Given the description of an element on the screen output the (x, y) to click on. 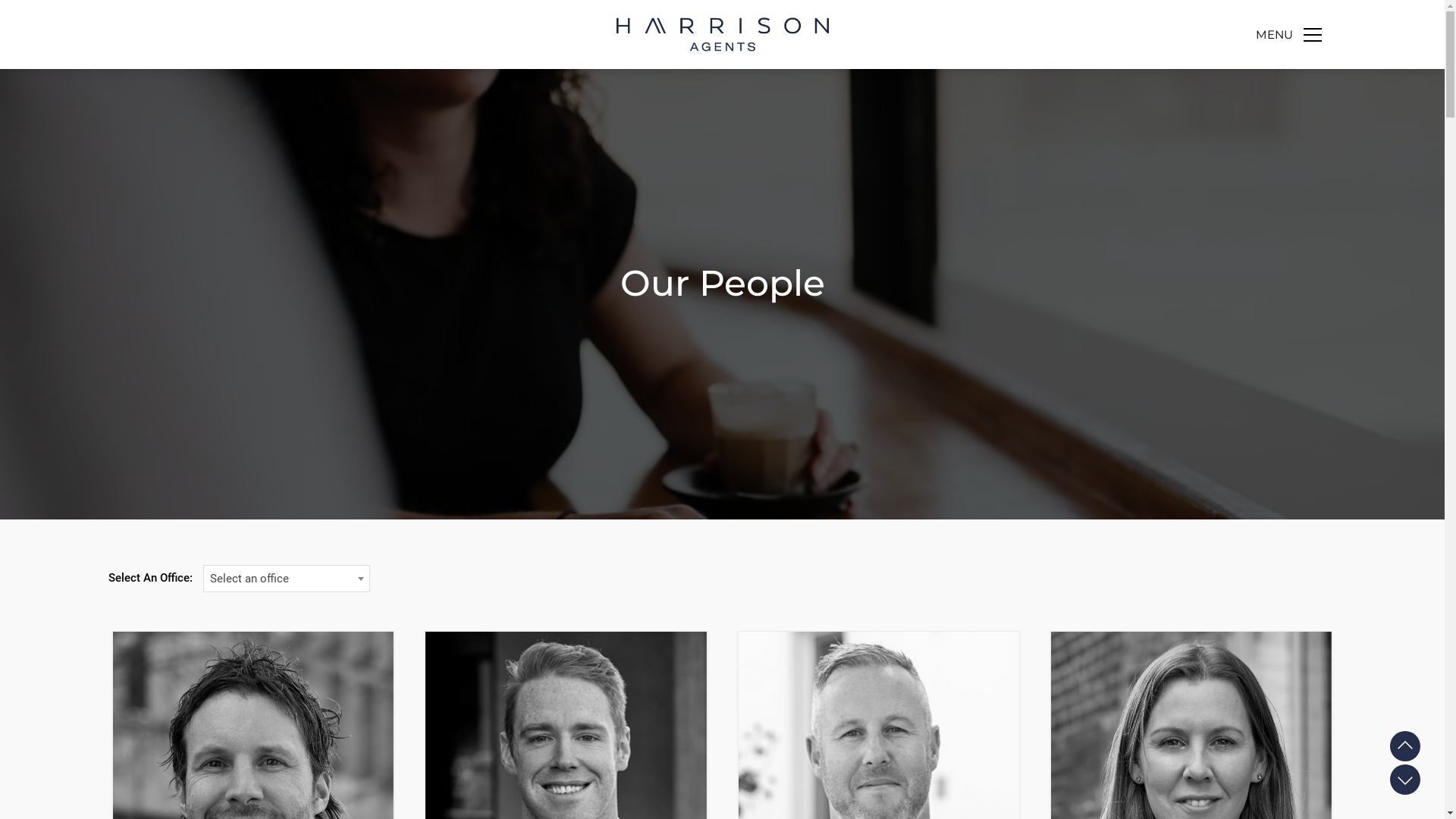
Search Element type: text (1285, 88)
Lease Page Element type: hover (1405, 779)
Buy Page Element type: hover (1405, 746)
